Given the description of an element on the screen output the (x, y) to click on. 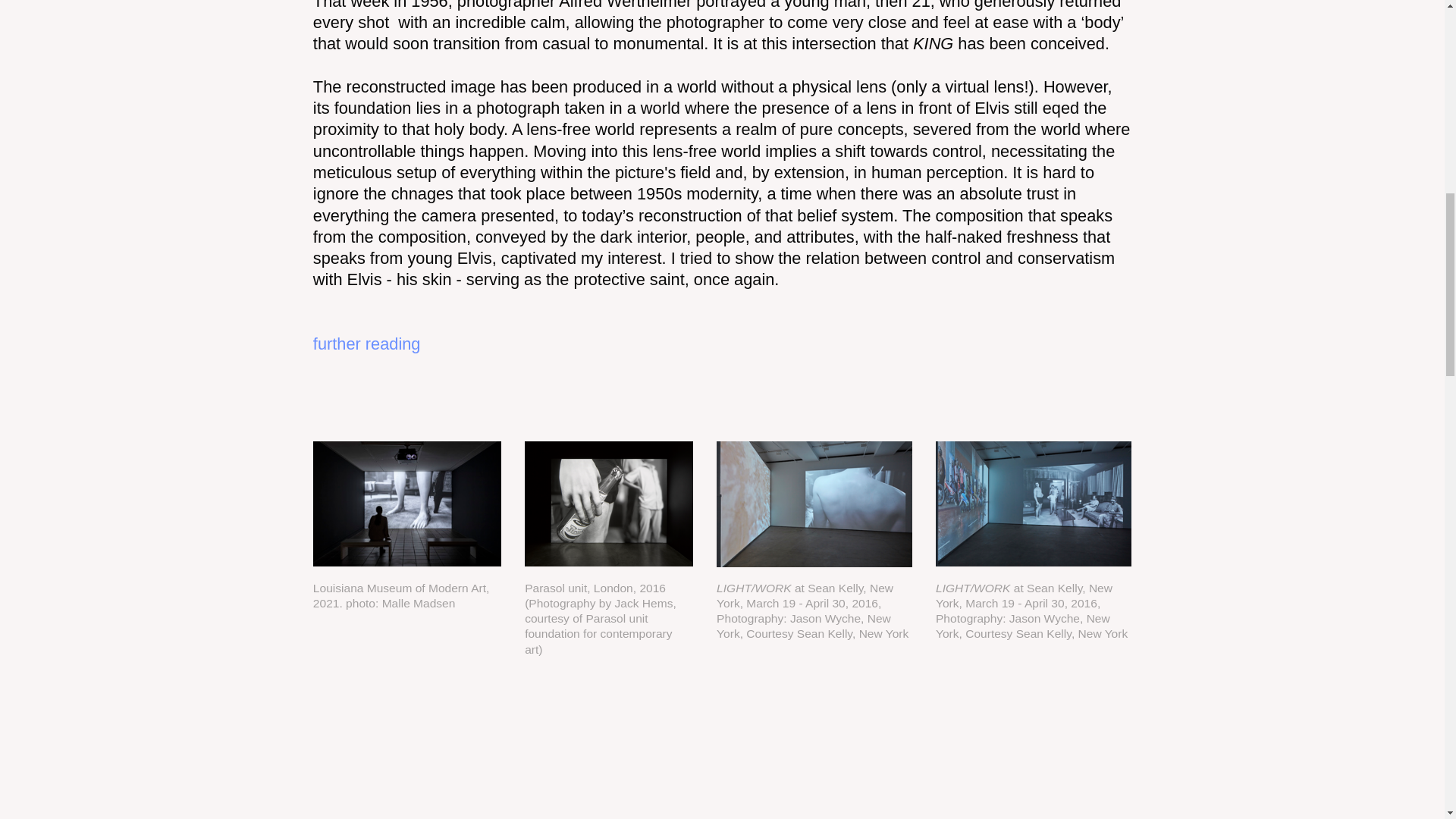
further reading (366, 344)
